Given the description of an element on the screen output the (x, y) to click on. 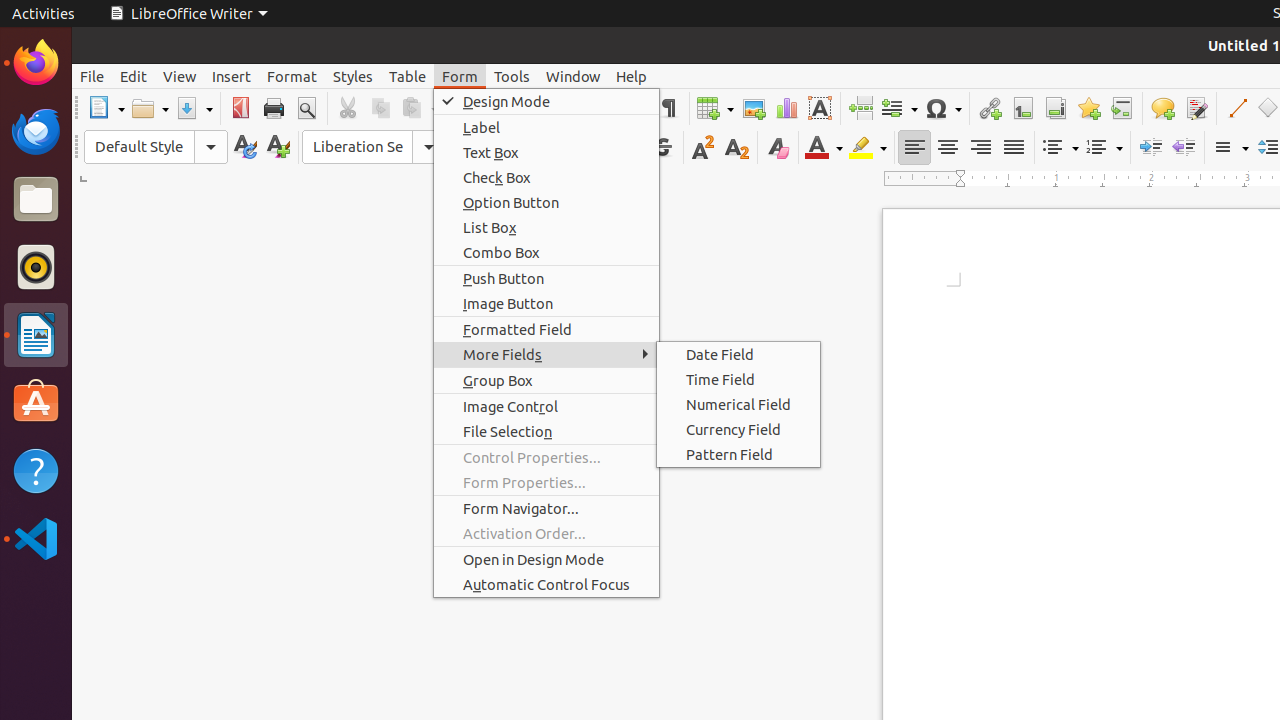
Bold Element type: toggle-button (563, 147)
Center Element type: toggle-button (947, 147)
Combo Box Element type: check-menu-item (546, 252)
Window Element type: menu (573, 76)
Table Element type: push-button (715, 108)
